Given the description of an element on the screen output the (x, y) to click on. 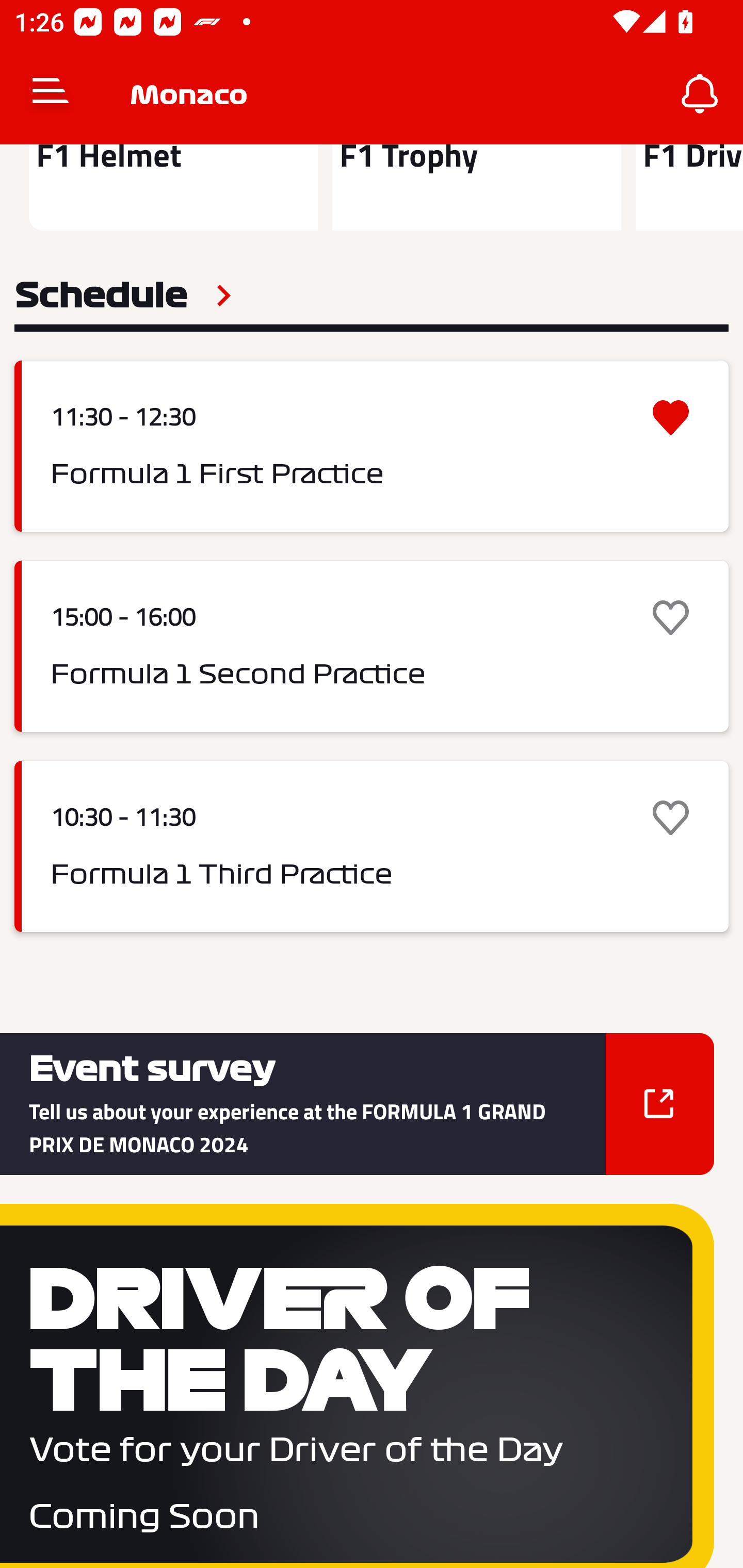
Navigate up (50, 93)
Notifications (699, 93)
F1 Helmet (173, 187)
F1 Trophy (476, 187)
Schedule (122, 295)
11:30 - 12:30 Formula 1 First Practice (371, 445)
15:00 - 16:00 Formula 1 Second Practice (371, 646)
10:30 - 11:30 Formula 1 Third Practice (371, 845)
